Given the description of an element on the screen output the (x, y) to click on. 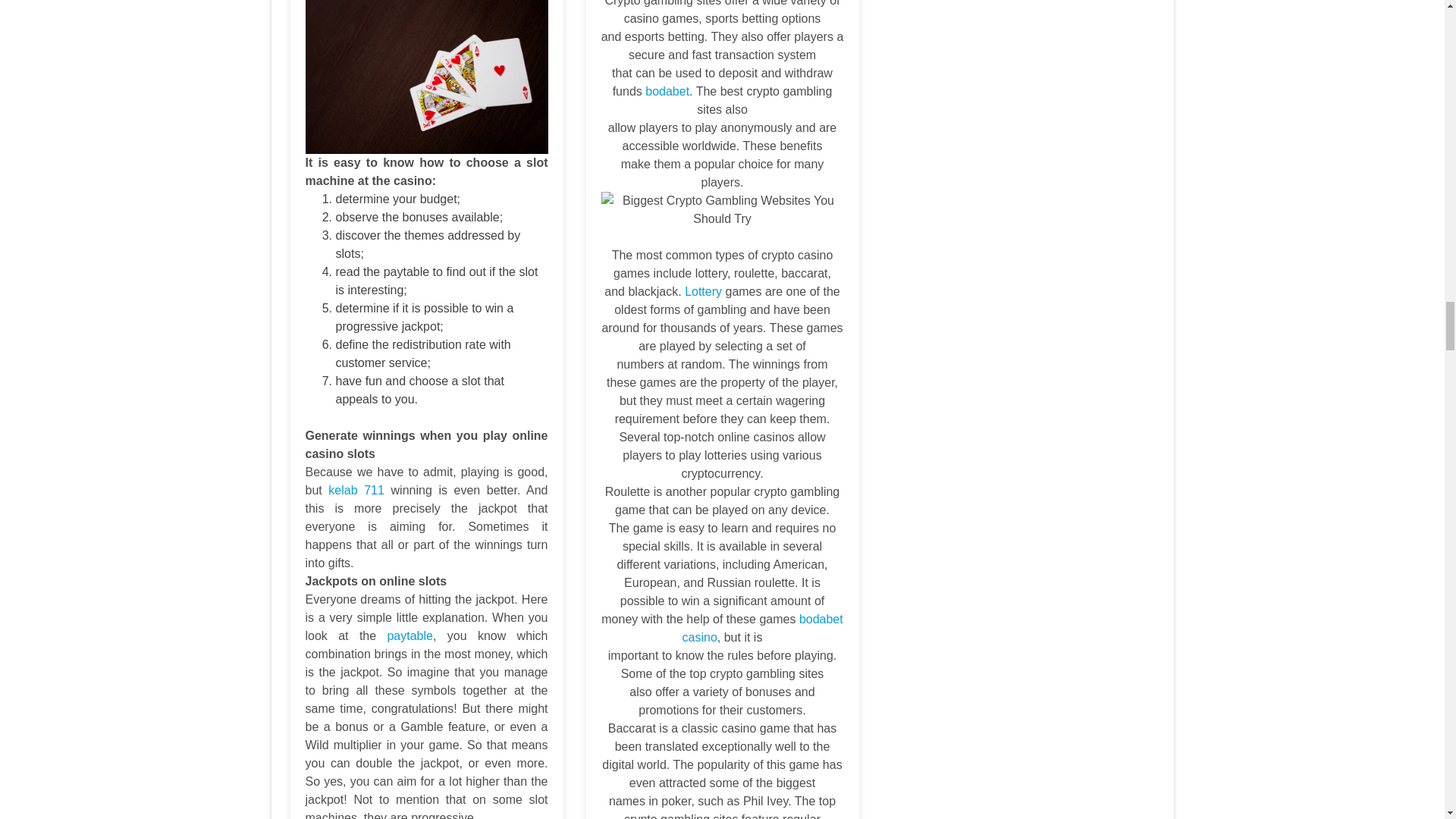
paytable (409, 635)
kelab 711 (356, 490)
